Given the description of an element on the screen output the (x, y) to click on. 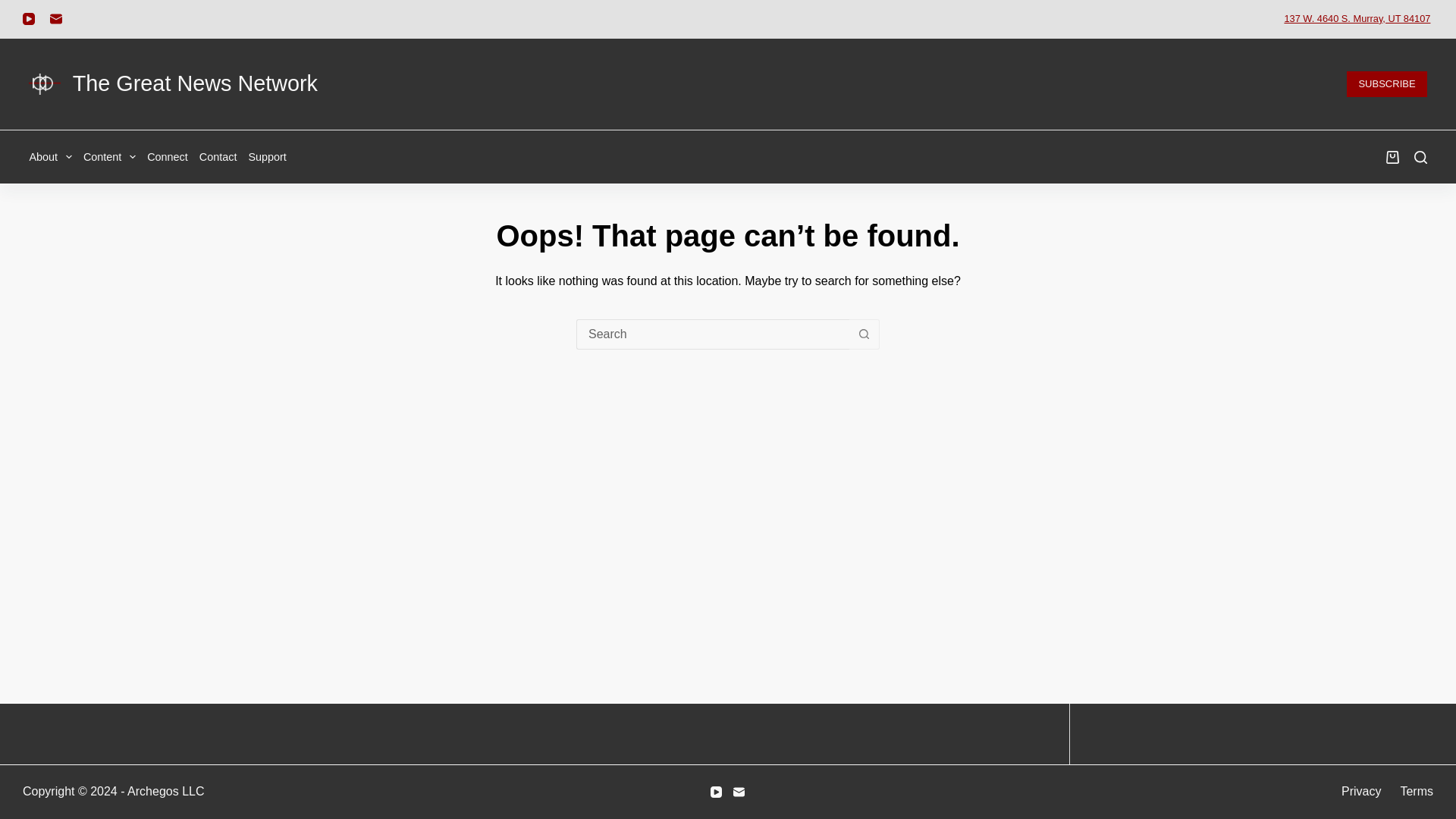
About (53, 156)
137 W. 4640 S. Murray, UT 84107 (1356, 18)
Search for... (712, 334)
Connect (167, 156)
The Great News Network (194, 83)
Contact (218, 156)
Content (109, 156)
Skip to content (15, 7)
SUBSCRIBE (1386, 84)
